Given the description of an element on the screen output the (x, y) to click on. 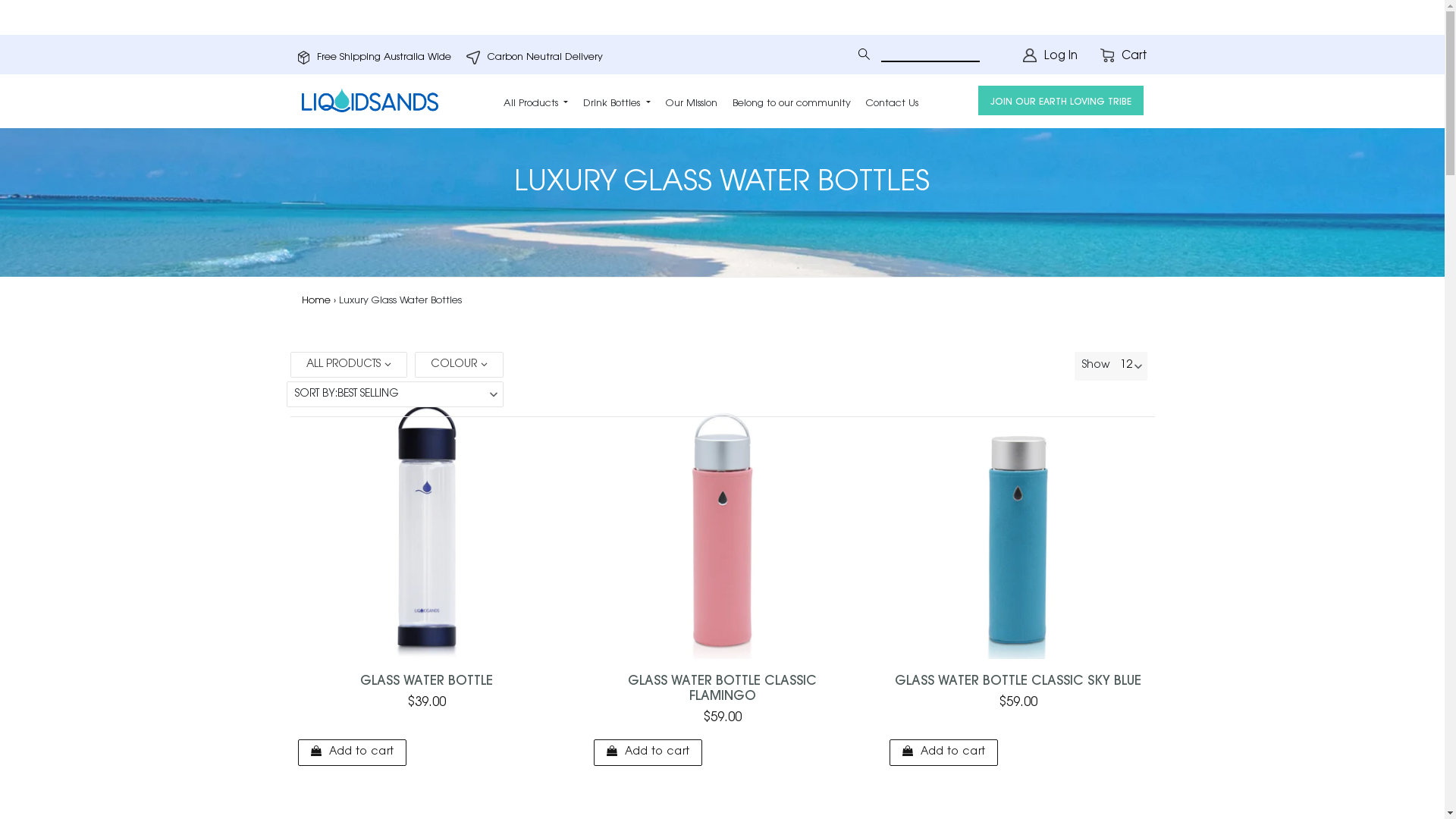
GLASS WATER BOTTLE CLASSIC SKY BLUE Element type: text (1017, 680)
Home Element type: text (315, 300)
Cart Element type: text (1122, 56)
JOIN OUR EARTH LOVING TRIBE Element type: text (1060, 100)
All Products Element type: text (535, 100)
Contact Us Element type: text (891, 100)
Our Mission Element type: text (691, 100)
Add to cart Element type: text (942, 752)
Add to cart Element type: text (351, 752)
GLASS WATER BOTTLE Element type: text (426, 680)
Belong to our community Element type: text (791, 100)
GLASS WATER BOTTLE CLASSIC FLAMINGO Element type: text (721, 688)
Drink Bottles Element type: text (616, 100)
Log In Element type: text (1049, 58)
Add to cart Element type: text (647, 752)
